Given the description of an element on the screen output the (x, y) to click on. 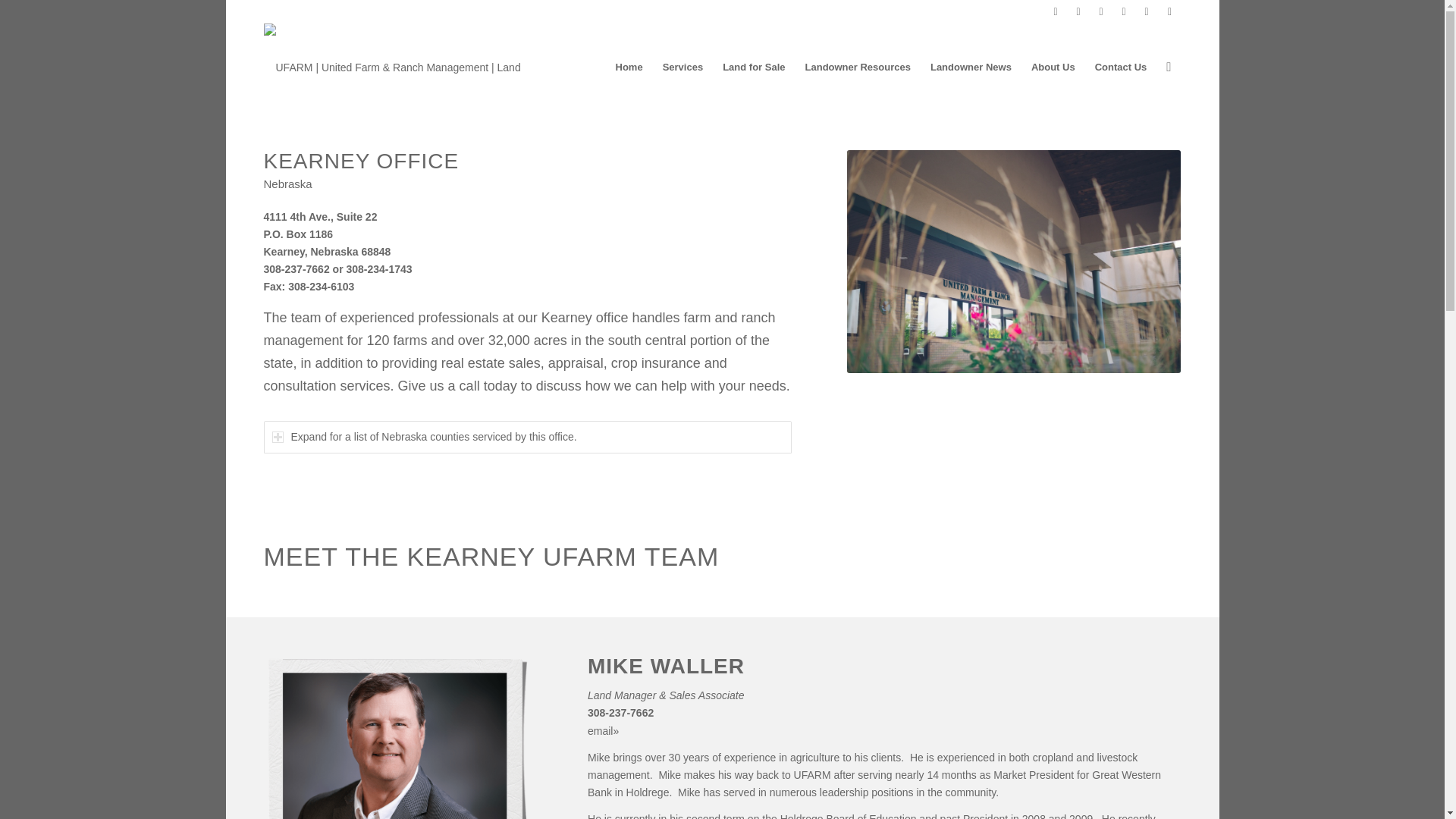
Landowner Resources (857, 67)
Mike-Waller (397, 737)
Land for Sale (753, 67)
